Given the description of an element on the screen output the (x, y) to click on. 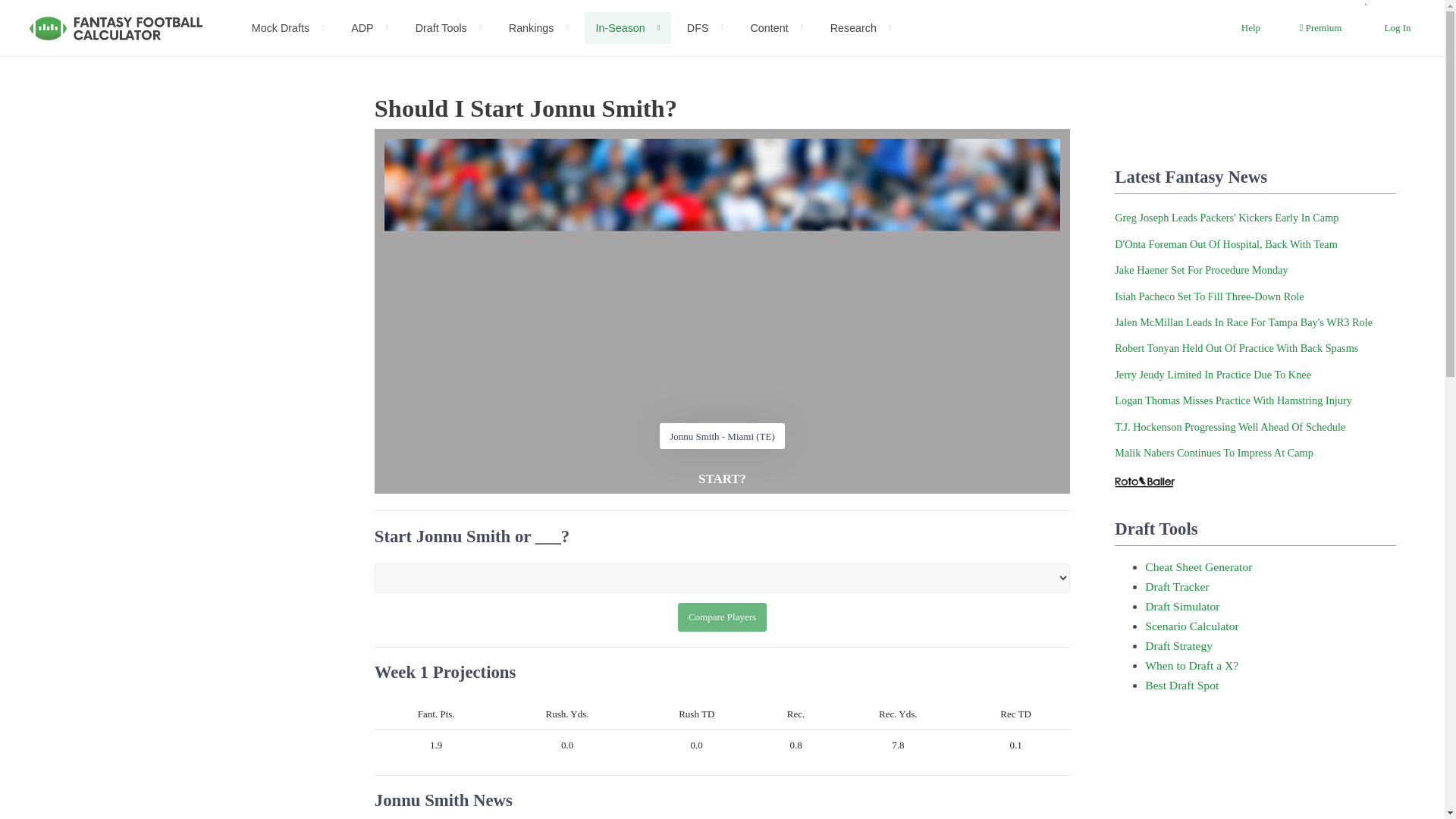
Mock Drafts (288, 28)
Fantasy Football Calculator (116, 27)
Compare Players (722, 616)
ADP (369, 28)
Rankings (538, 28)
Draft Tools (448, 28)
